Given the description of an element on the screen output the (x, y) to click on. 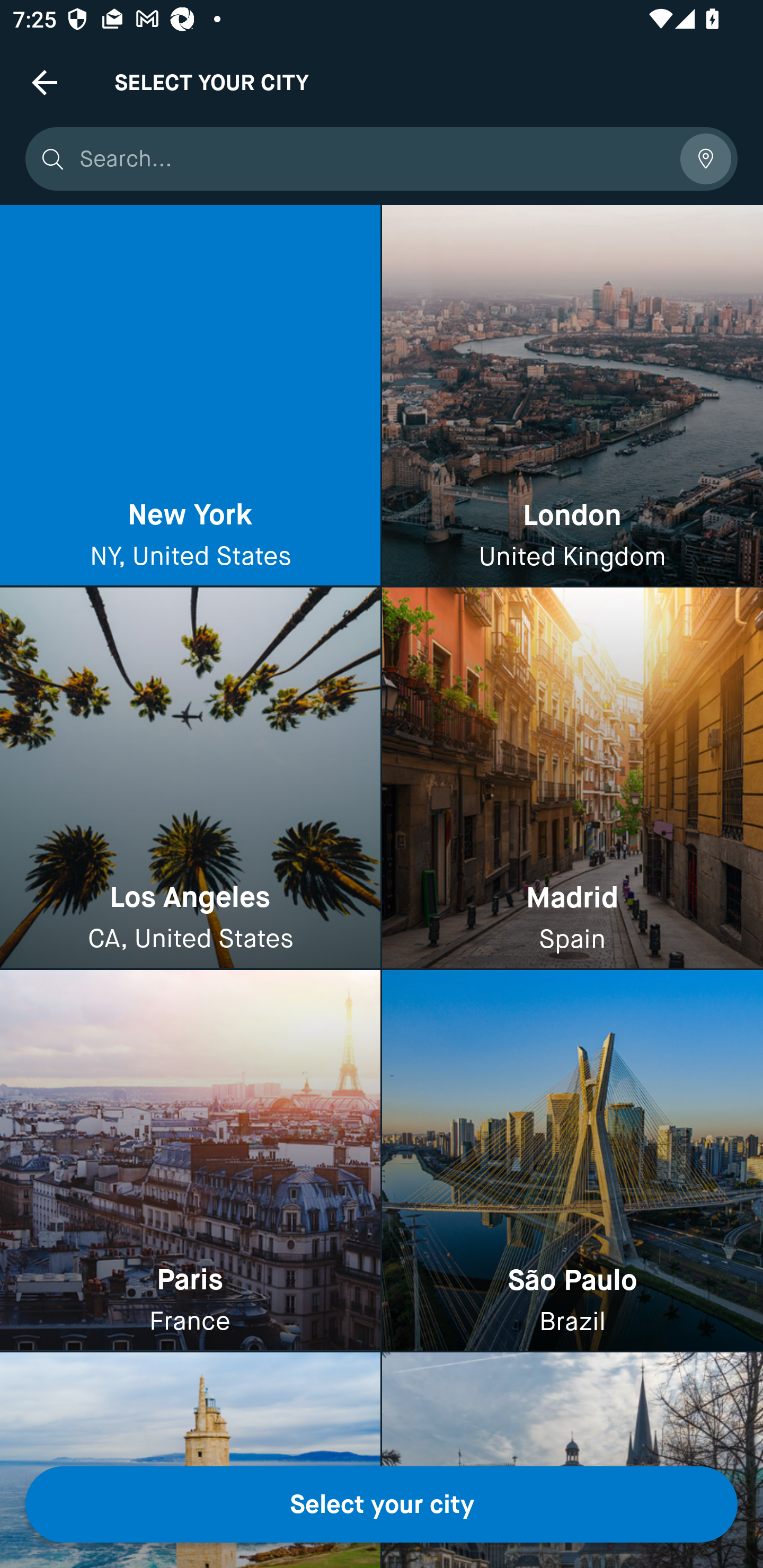
Navigate up (44, 82)
Search... (373, 159)
New York NY, United States (190, 395)
London United Kingdom (572, 395)
Los Angeles CA, United States (190, 778)
Madrid Spain (572, 778)
Paris France (190, 1160)
São Paulo Brazil (572, 1160)
Select your city (381, 1504)
